Given the description of an element on the screen output the (x, y) to click on. 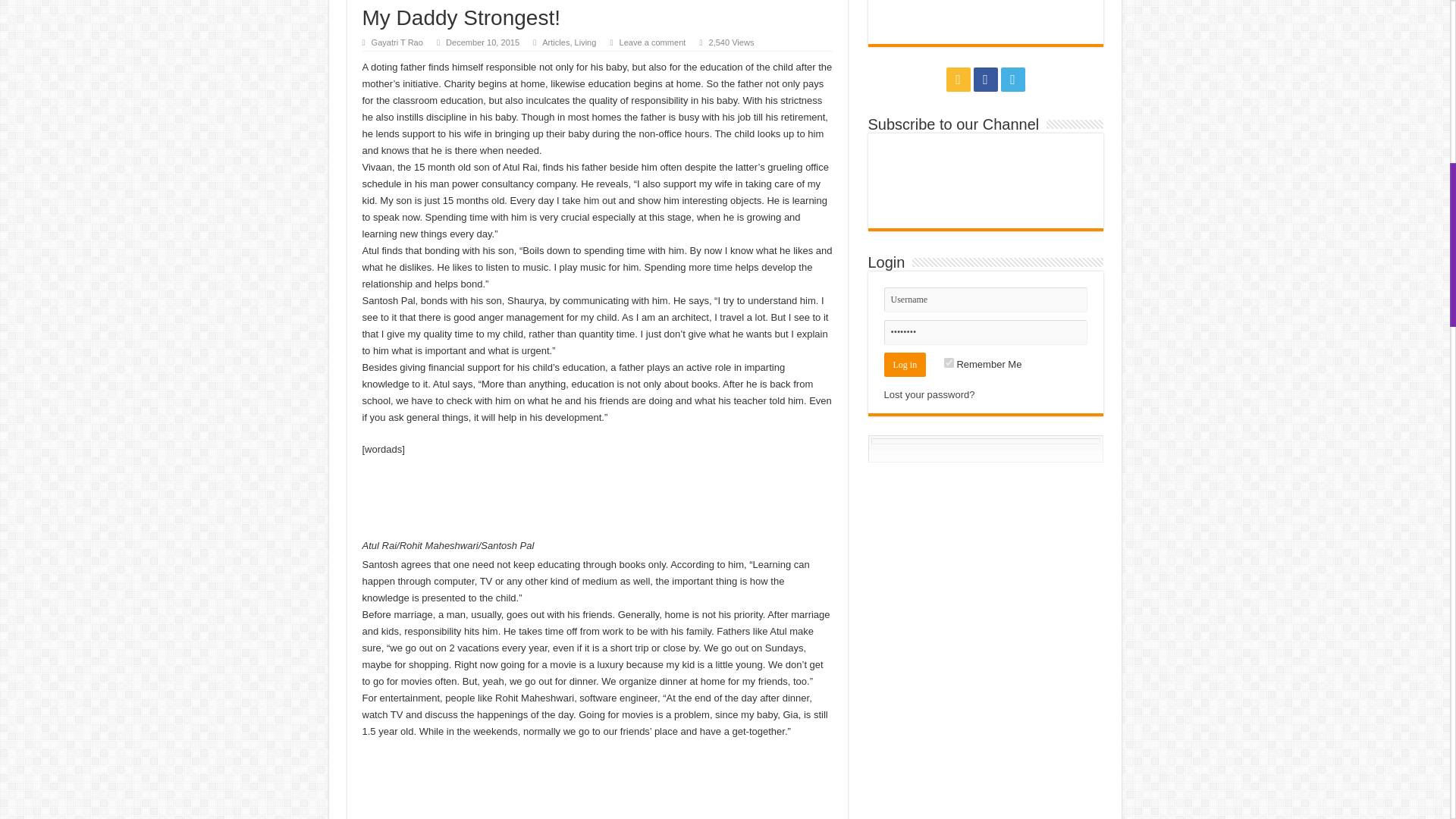
Log in (904, 364)
Username (985, 299)
Password (985, 332)
forever (948, 362)
